Given the description of an element on the screen output the (x, y) to click on. 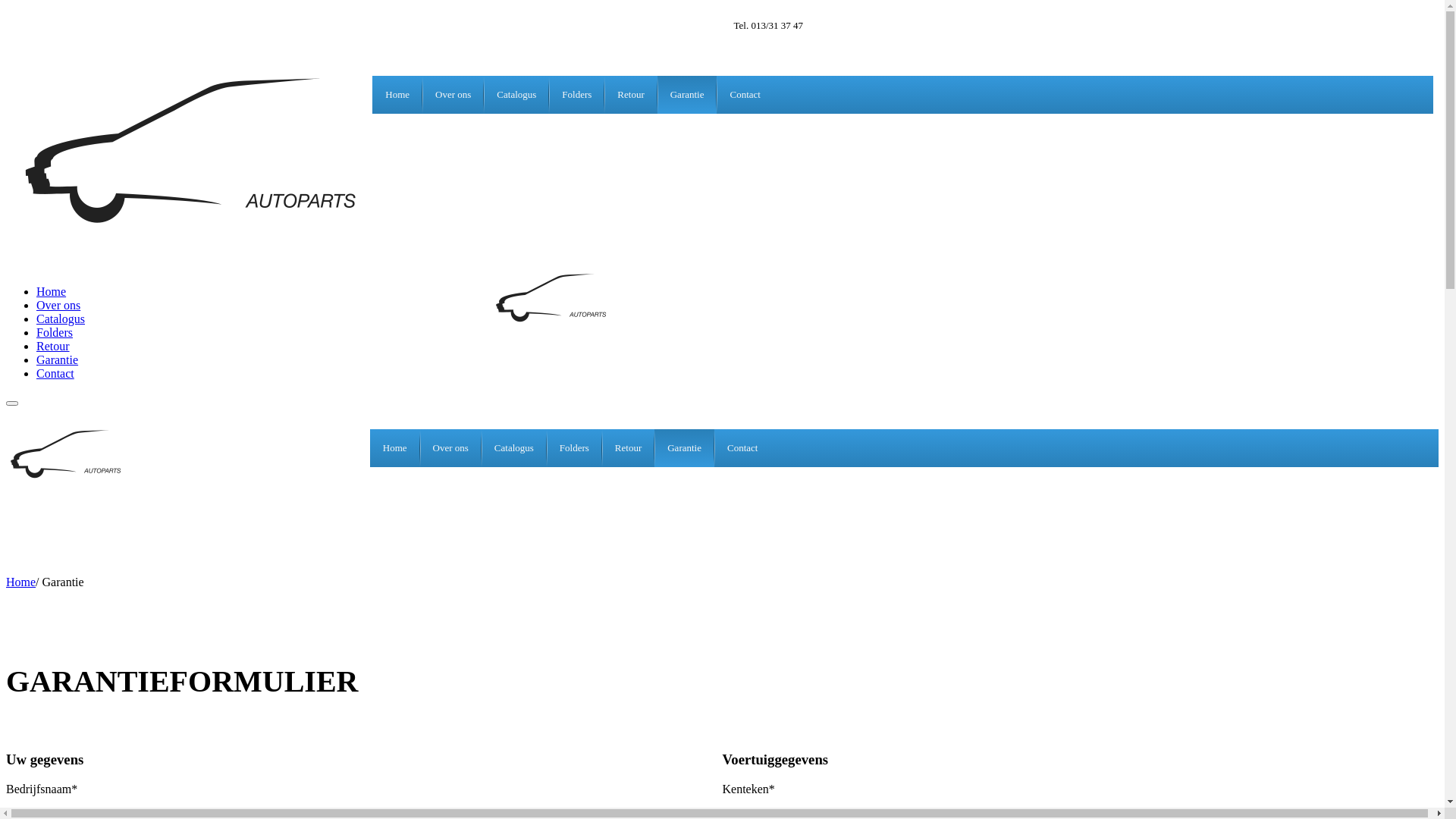
Retour Element type: text (52, 345)
Contact Element type: text (55, 373)
Over ons Element type: text (58, 304)
Garantie Element type: text (687, 94)
Folders Element type: text (54, 332)
Autoparts B&V Element type: hover (204, 231)
Retour Element type: text (628, 448)
Folders Element type: text (576, 94)
Contact Element type: text (744, 94)
Folders Element type: text (574, 448)
Home Element type: text (20, 581)
Catalogus Element type: text (513, 448)
Catalogus Element type: text (516, 94)
Home Element type: text (50, 291)
Contact Element type: text (742, 448)
Home Element type: text (395, 448)
Garantie Element type: text (57, 359)
Garantie Element type: text (684, 448)
Catalogus Element type: text (60, 318)
Home Element type: text (397, 94)
Retour Element type: text (630, 94)
Over ons Element type: text (450, 448)
Over ons Element type: text (452, 94)
Autoparts B&V Element type: hover (555, 321)
Autoparts B&V Element type: hover (70, 477)
